Given the description of an element on the screen output the (x, y) to click on. 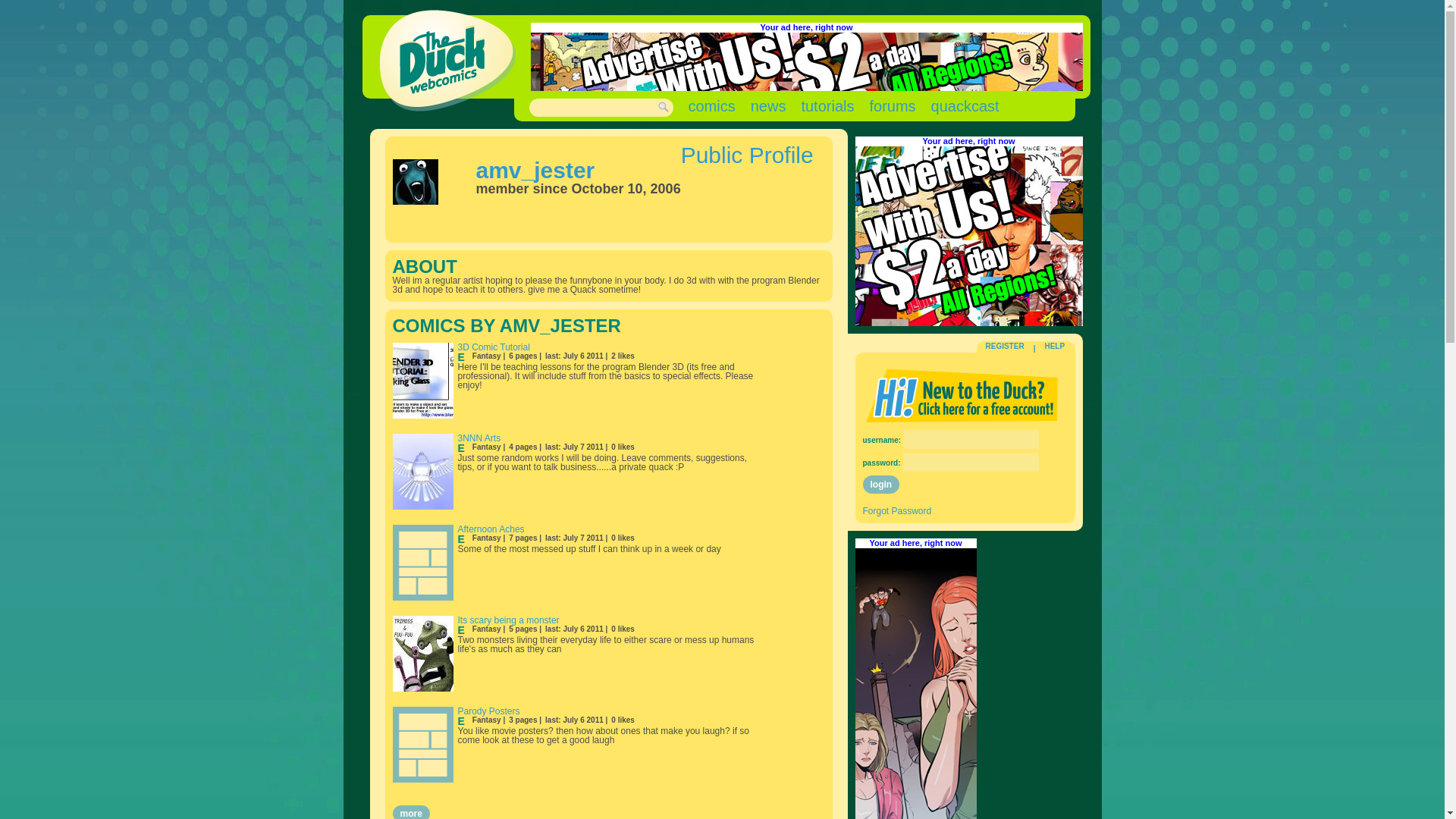
3NNN Arts (479, 438)
more (411, 812)
news (768, 105)
Afternoon Aches (491, 529)
comics (711, 105)
Its scary being a monster (508, 620)
3D Comic Tutorial (493, 347)
login (881, 484)
tutorials (826, 105)
quackcast (964, 105)
forums (892, 105)
Your ad here, right now (805, 26)
Parody Posters (488, 710)
